Given the description of an element on the screen output the (x, y) to click on. 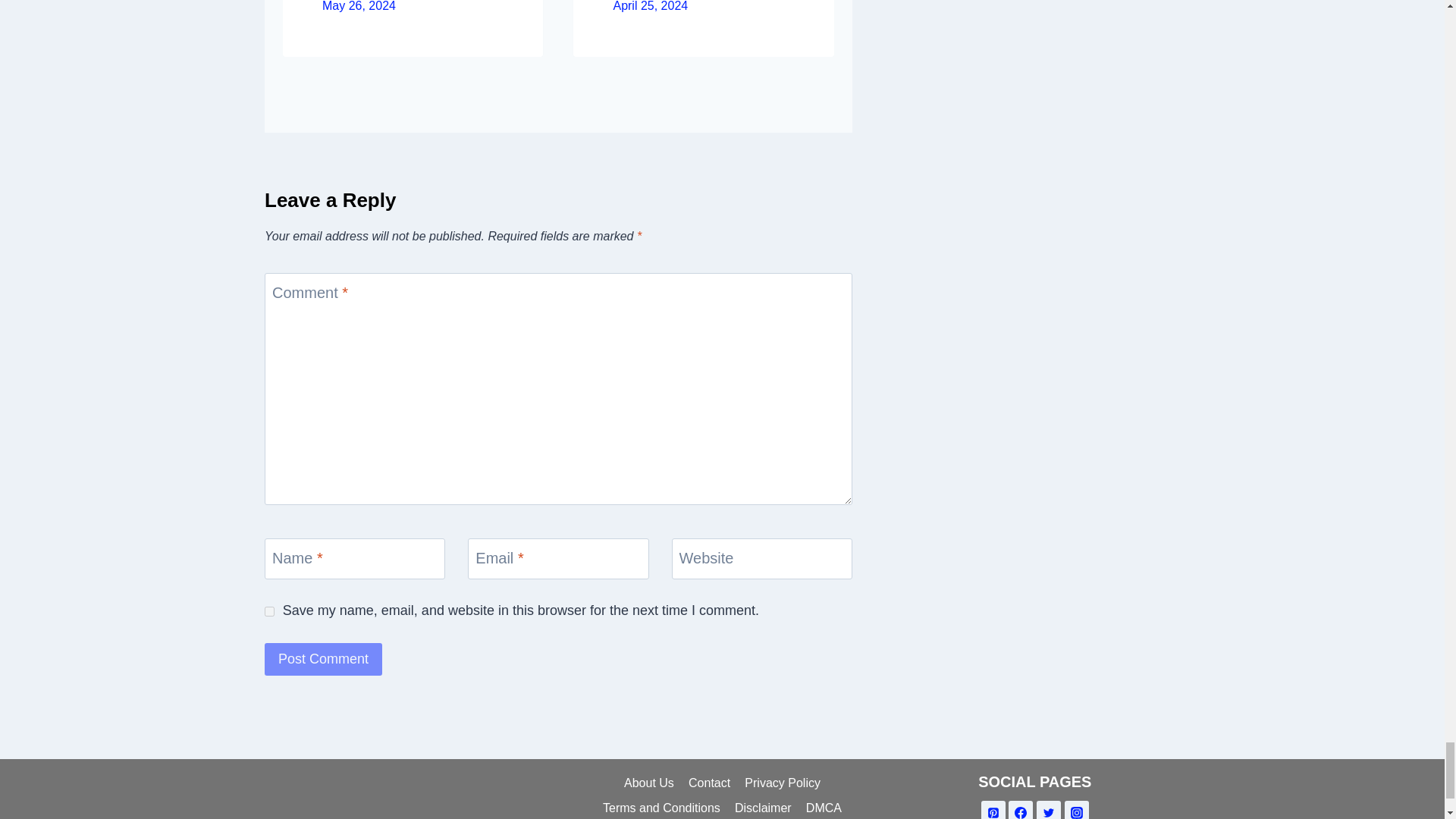
yes (269, 611)
Post Comment (322, 658)
